Given the description of an element on the screen output the (x, y) to click on. 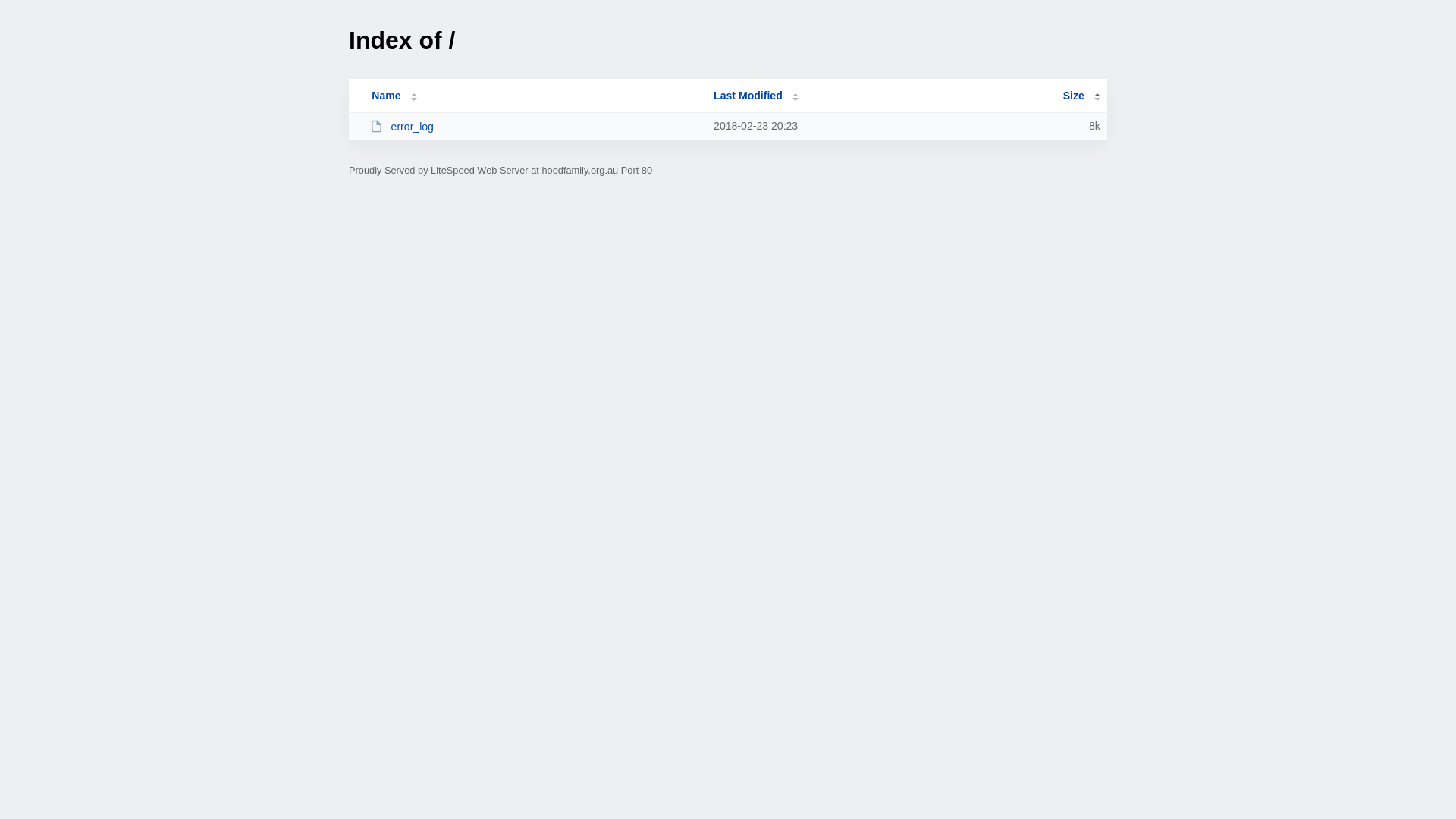
Name Element type: text (385, 95)
Last Modified Element type: text (755, 95)
Size Element type: text (1081, 95)
error_log Element type: text (534, 125)
